Given the description of an element on the screen output the (x, y) to click on. 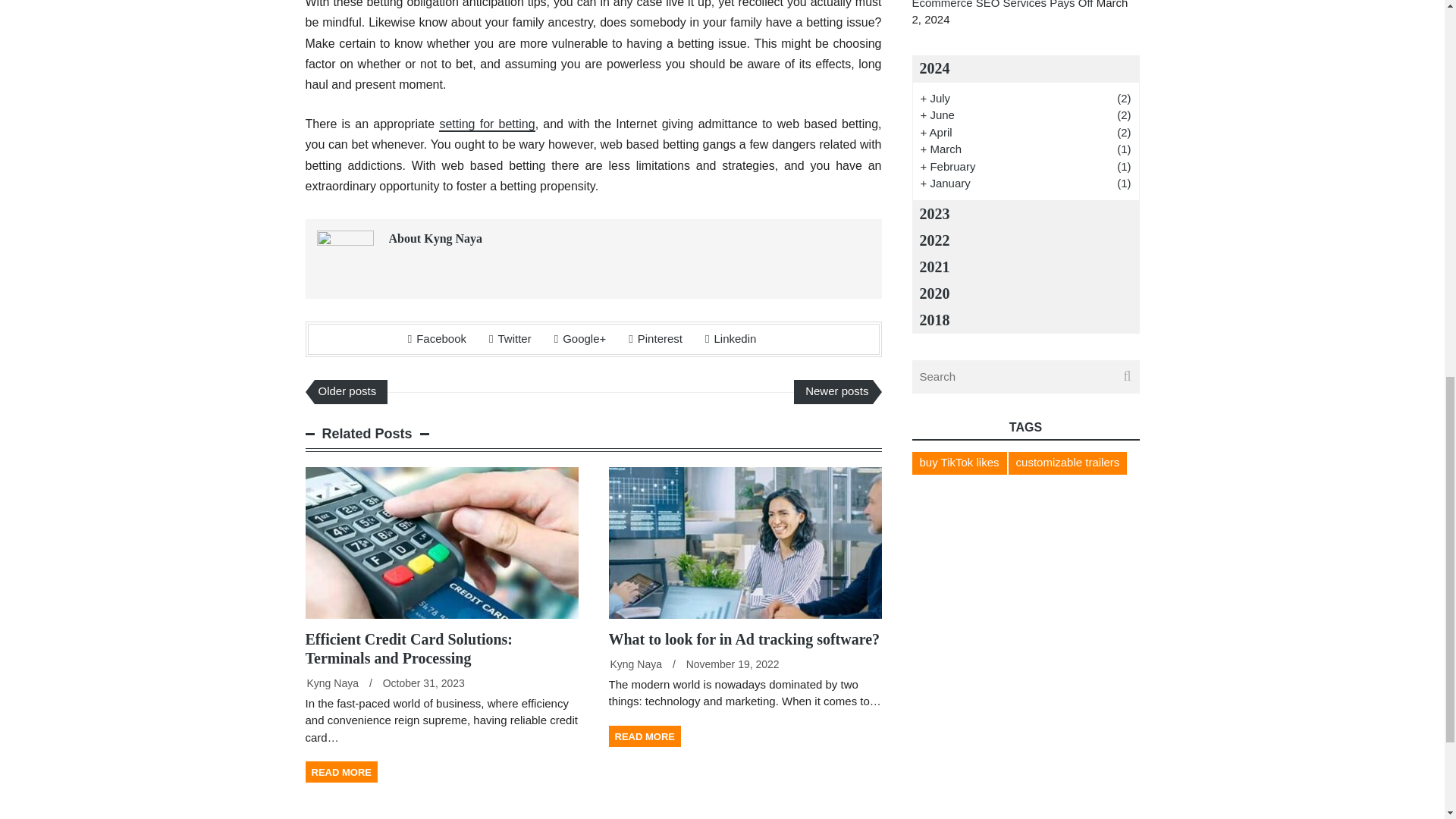
Posts by Kyng Naya (331, 683)
setting for betting (486, 124)
Facebook (436, 338)
Posts by Kyng Naya (635, 664)
Twitter (510, 338)
